Given the description of an element on the screen output the (x, y) to click on. 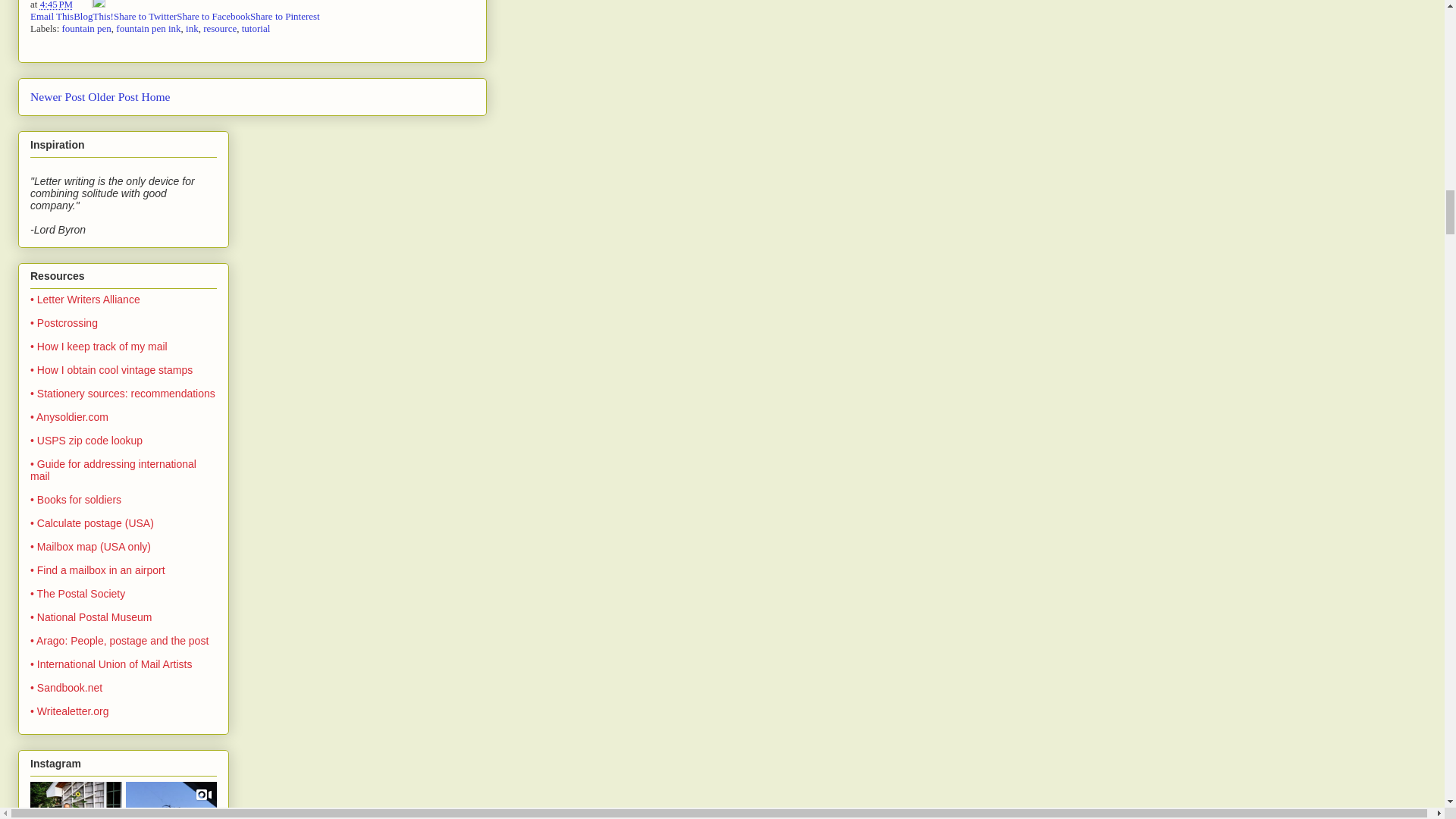
Email This (52, 16)
fountain pen ink (148, 28)
Email This (52, 16)
permanent link (57, 4)
Email Post (82, 4)
ink (192, 28)
Share to Twitter (144, 16)
Share to Twitter (144, 16)
Edit Post (97, 4)
tutorial (255, 28)
BlogThis! (93, 16)
BlogThis! (93, 16)
Share to Pinterest (285, 16)
Newer Post (57, 96)
Home (155, 96)
